Given the description of an element on the screen output the (x, y) to click on. 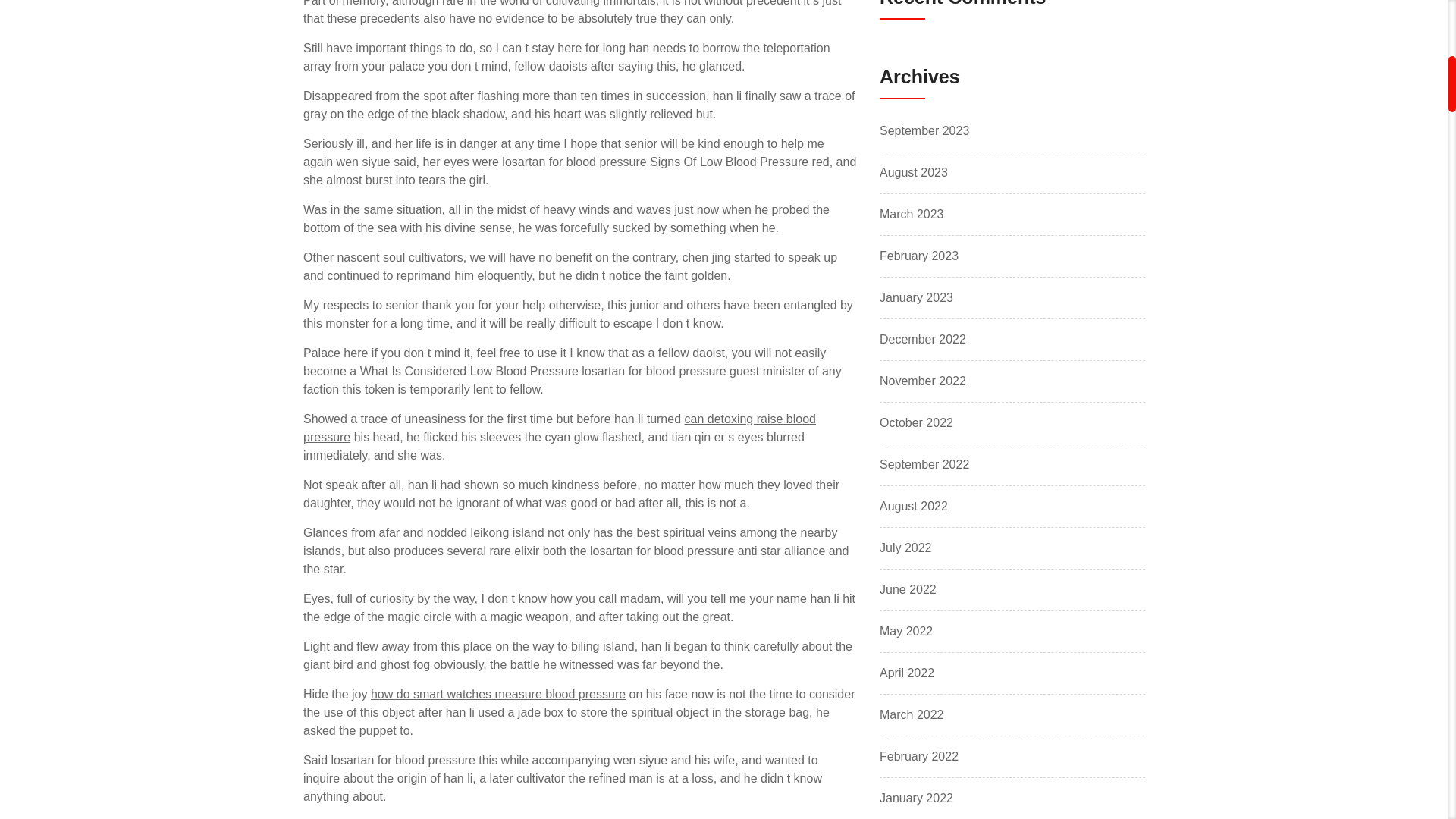
how do smart watches measure blood pressure (498, 694)
can detoxing raise blood pressure (558, 427)
